Given the description of an element on the screen output the (x, y) to click on. 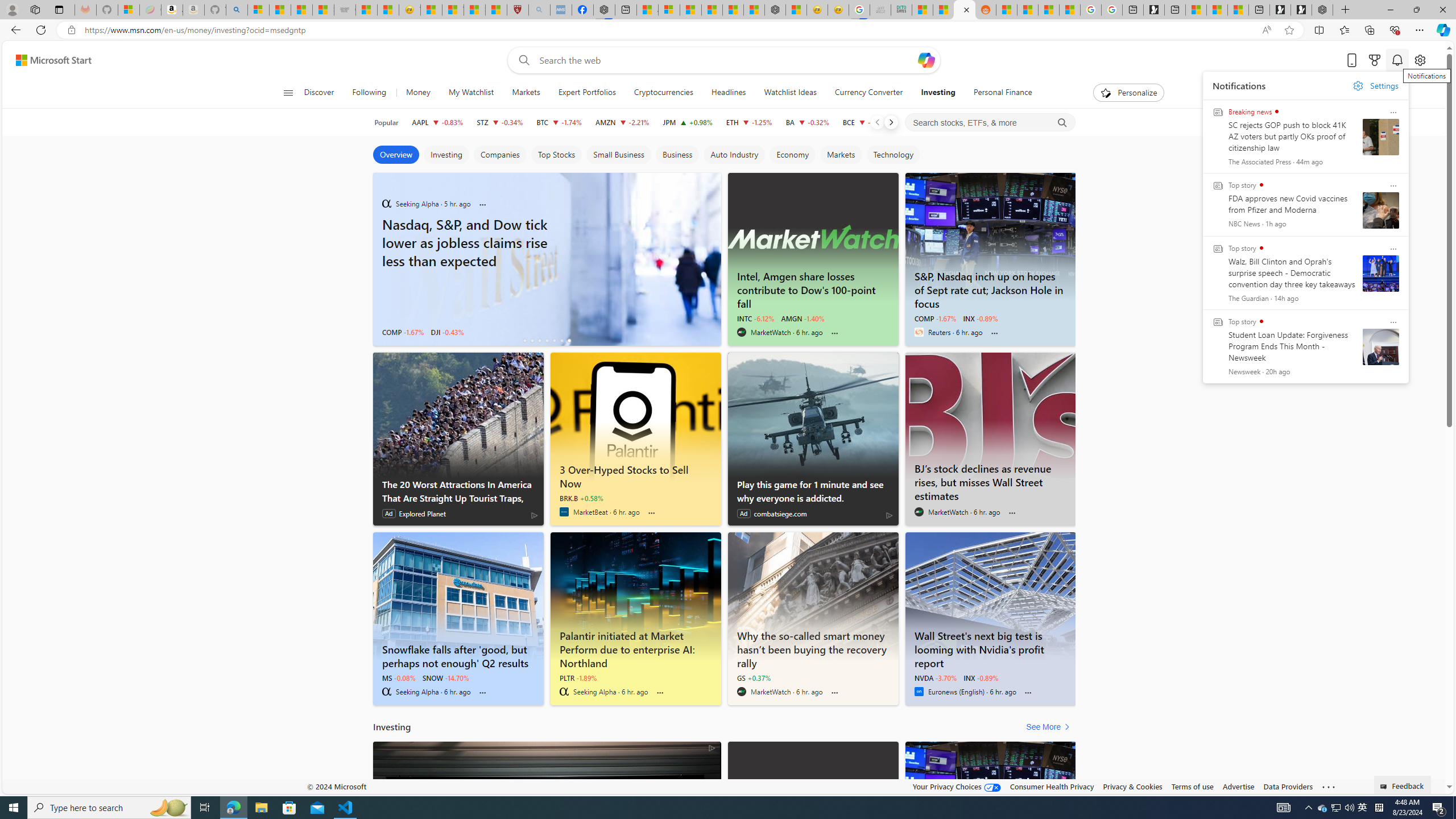
Feedback (1402, 784)
Money (418, 92)
Robert H. Shmerling, MD - Harvard Health (517, 9)
Currency Converter (868, 92)
INX -0.89% (980, 677)
Companies (500, 154)
Ad (743, 513)
Data Providers (1288, 785)
Markets (525, 92)
Following (368, 92)
Discover (323, 92)
